Given the description of an element on the screen output the (x, y) to click on. 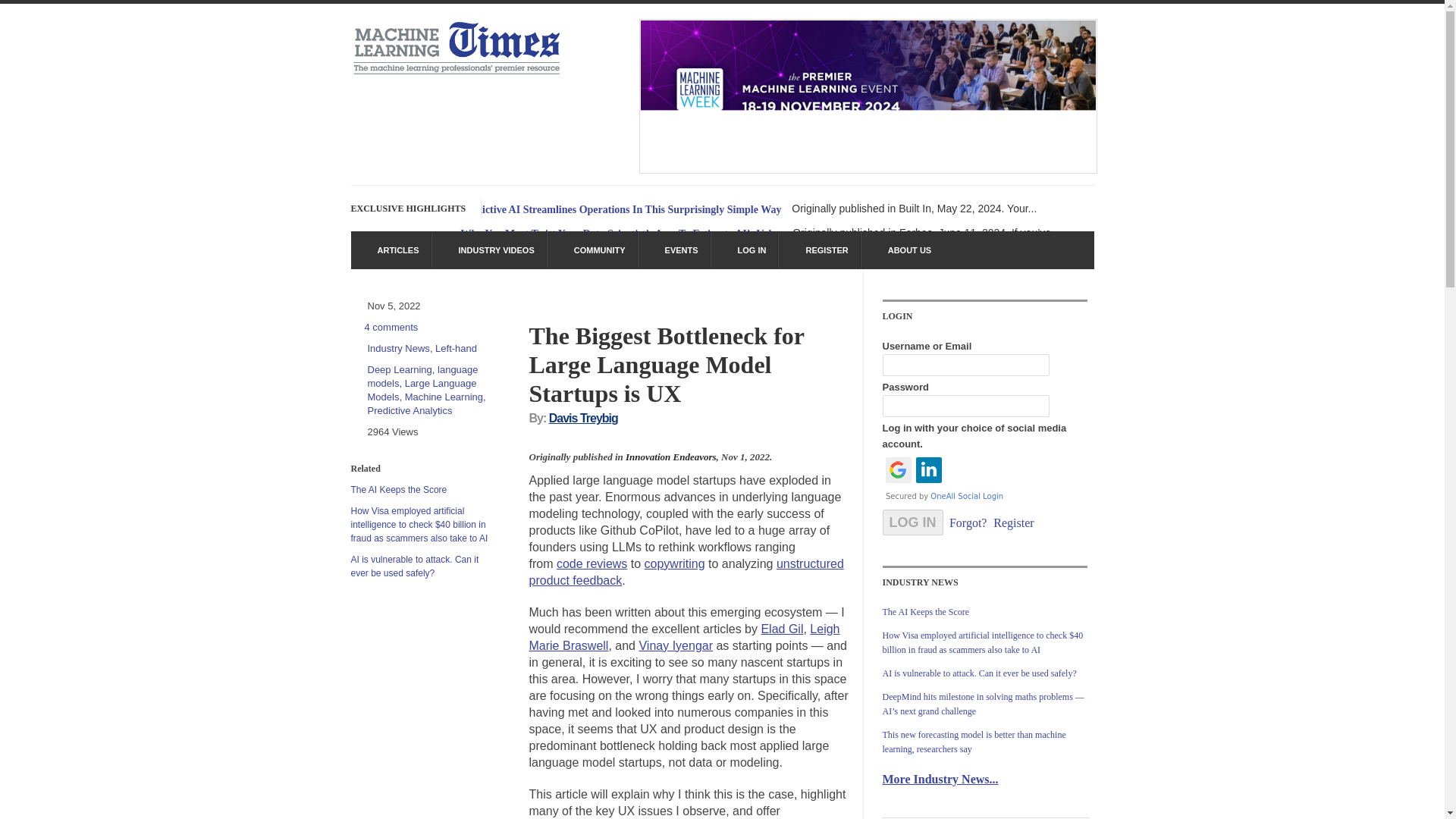
Login with Social Networks (984, 478)
REGISTER (818, 249)
The AI Keeps the Score (398, 489)
Machine Learning Times (456, 72)
LOG IN (744, 249)
AI is vulnerable to attack. Can it ever be used safely? (414, 566)
Machine Learning Times (867, 169)
4 comments (390, 326)
Industry News (397, 348)
